Given the description of an element on the screen output the (x, y) to click on. 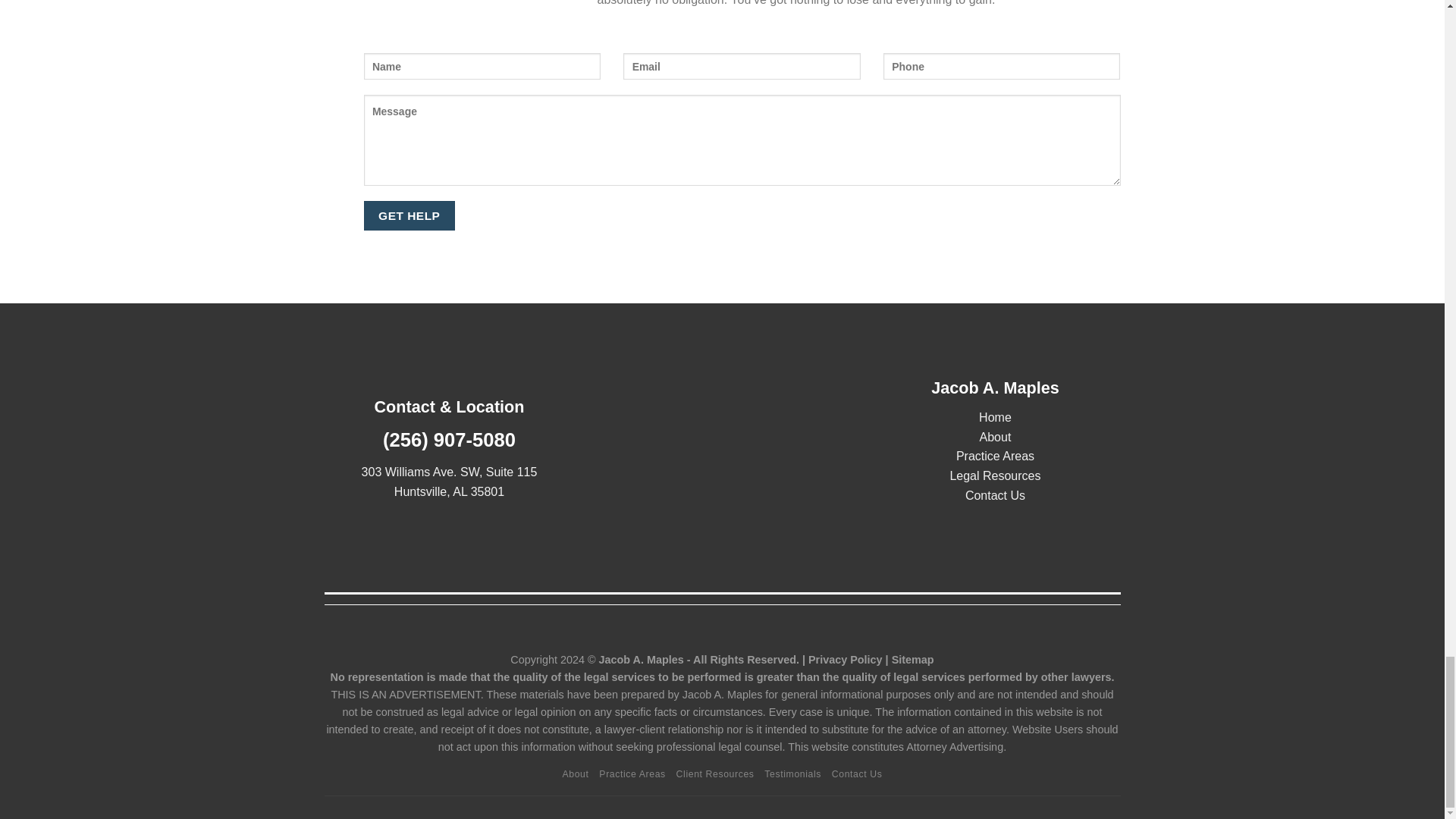
Get Help (409, 215)
